Given the description of an element on the screen output the (x, y) to click on. 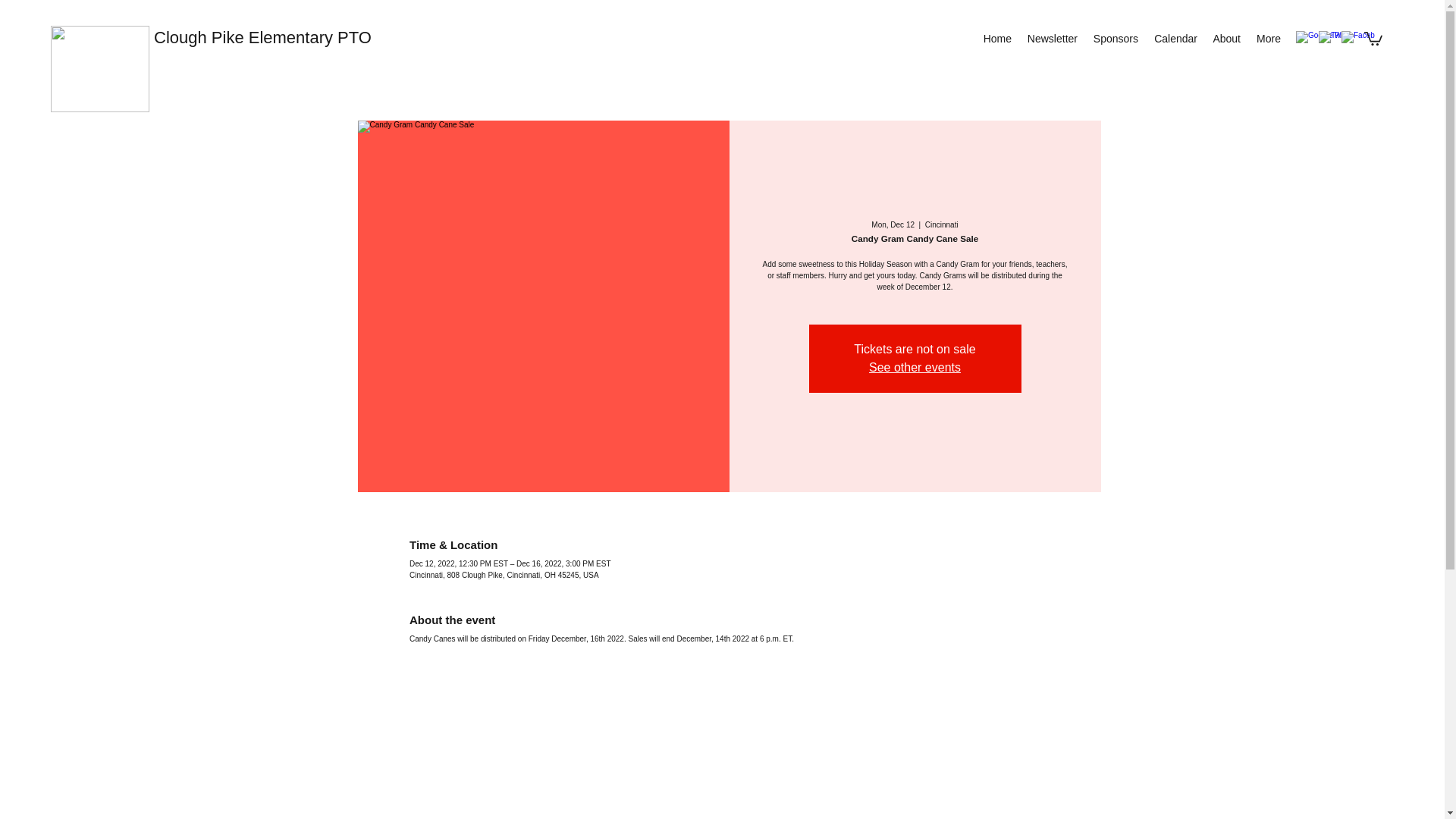
2024-08-03 14 52 31.png (99, 68)
Calendar (1175, 38)
Home (997, 38)
About (1226, 38)
Clough Pike Elementary PTO (262, 36)
Sponsors (1114, 38)
See other events (914, 367)
Newsletter (1051, 38)
